Given the description of an element on the screen output the (x, y) to click on. 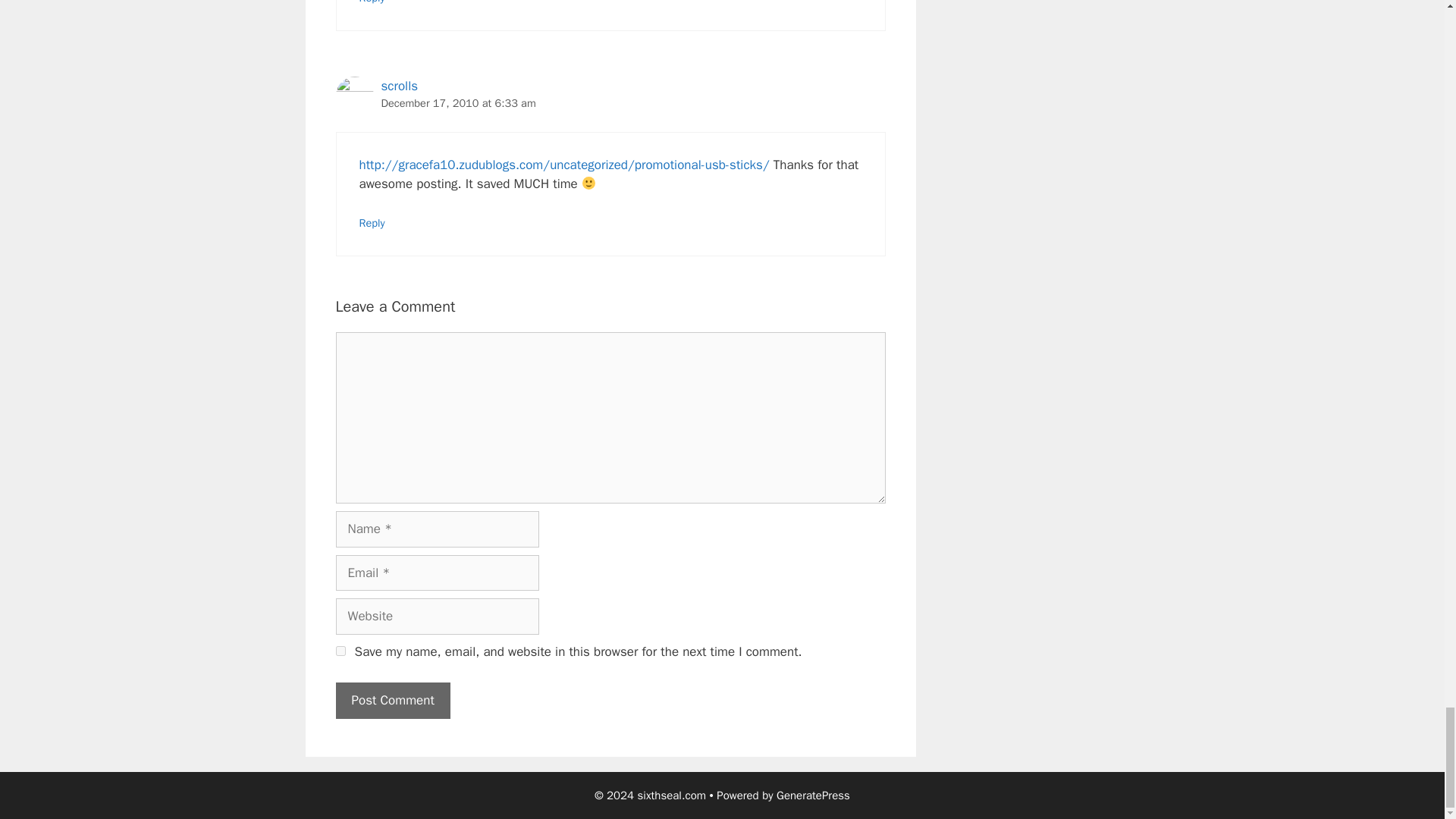
yes (339, 651)
Post Comment (391, 700)
